Given the description of an element on the screen output the (x, y) to click on. 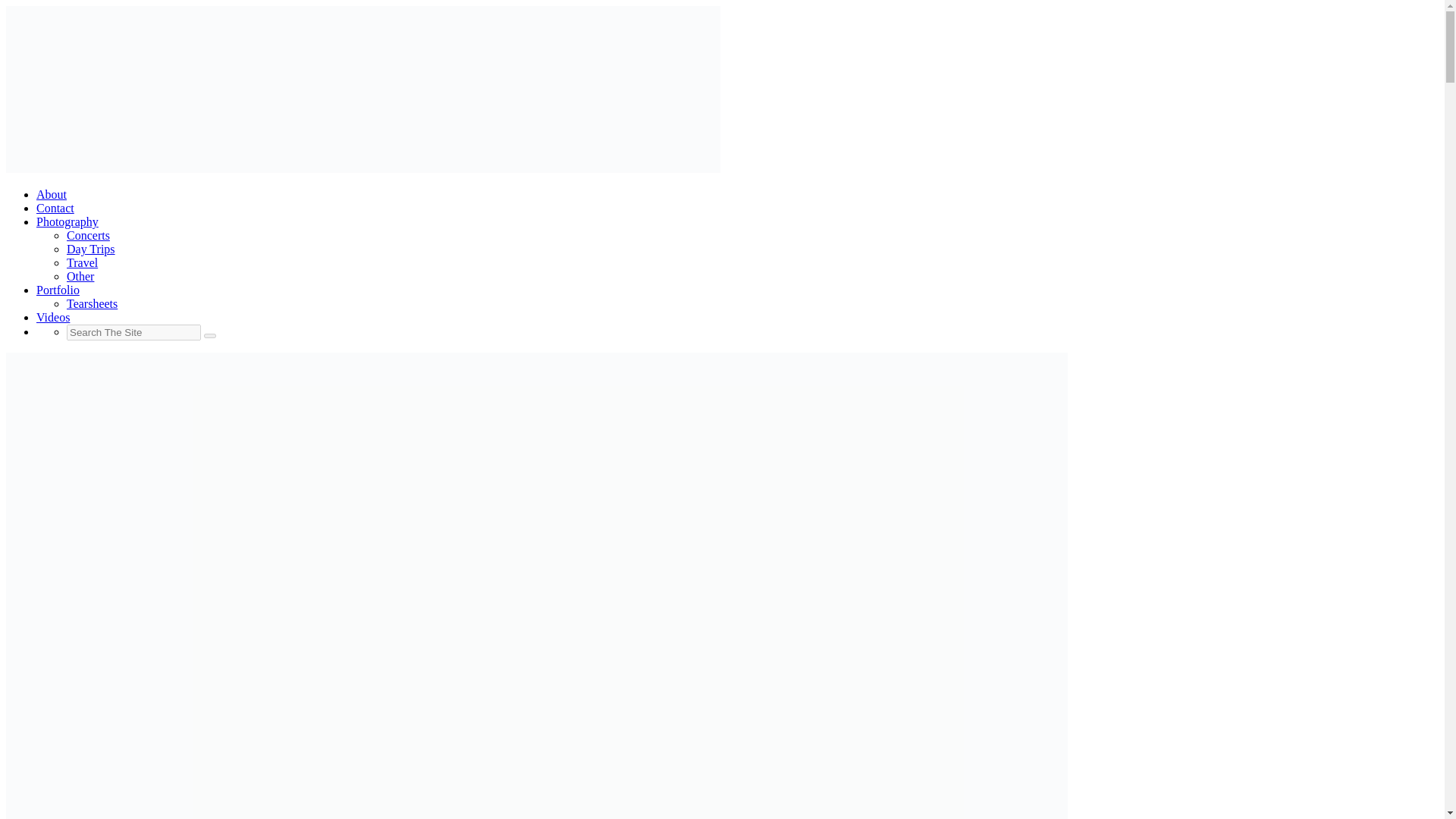
Portfolio (58, 289)
Concerts (88, 235)
Day Trip Photography (90, 248)
Search for: (133, 332)
Tearsheets (91, 303)
Photography (67, 221)
Search (209, 335)
About (51, 194)
Other (80, 276)
Contact (55, 207)
